Given the description of an element on the screen output the (x, y) to click on. 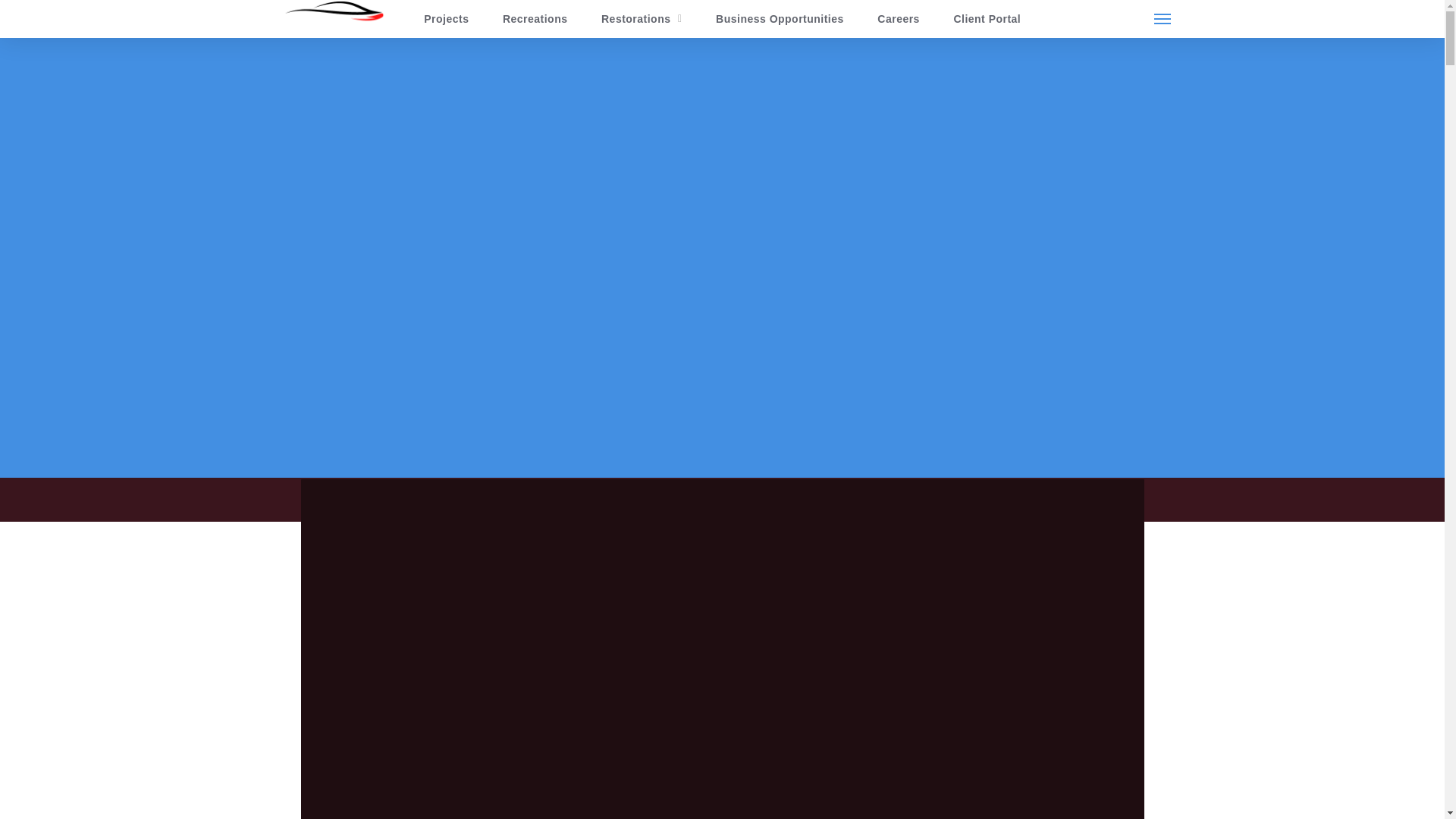
Restorations (640, 18)
Careers (898, 18)
Business Opportunities (779, 18)
Client Portal (986, 18)
Projects (446, 18)
Recreations (533, 18)
